Given the description of an element on the screen output the (x, y) to click on. 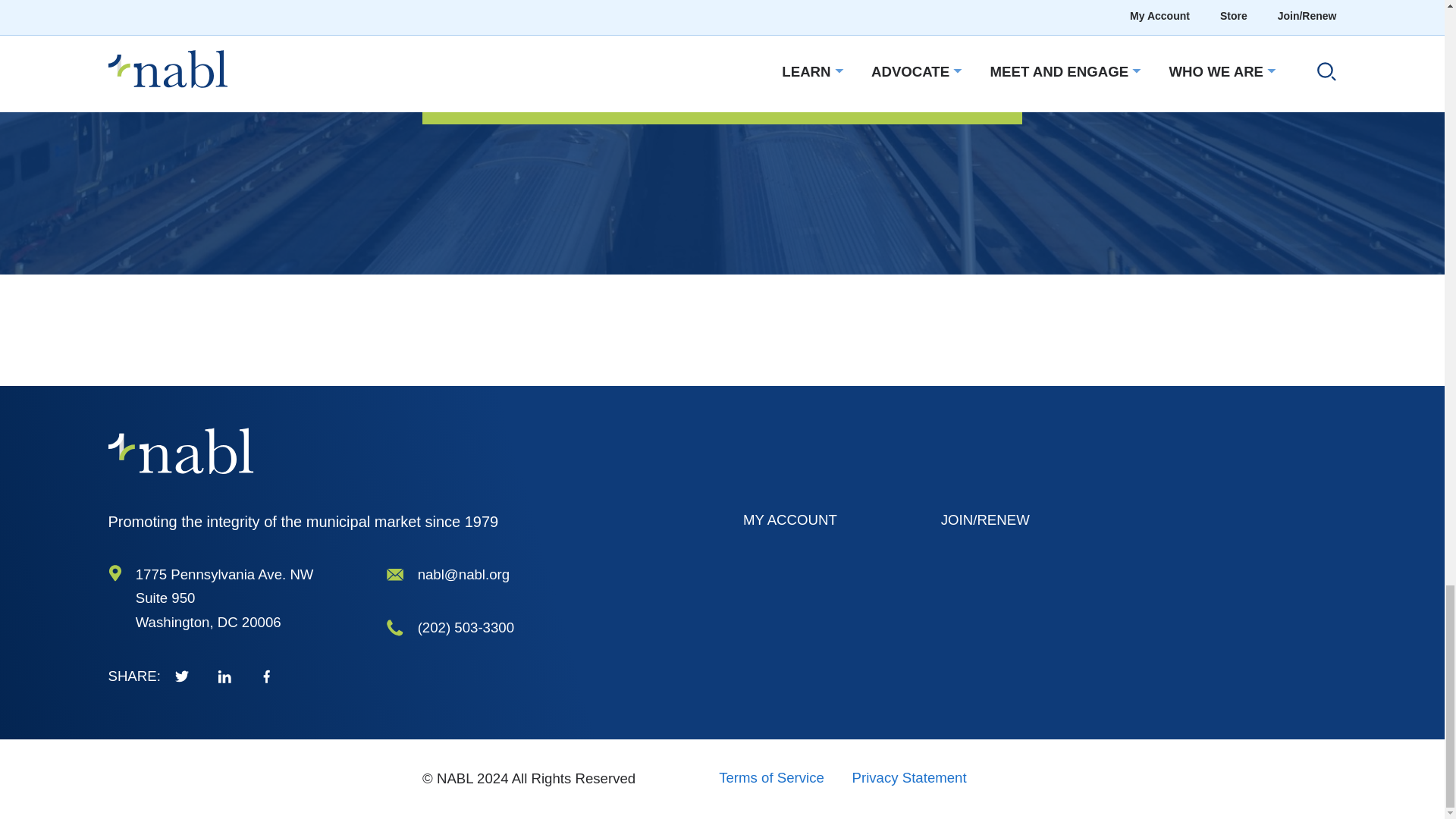
NABL (180, 450)
